Given the description of an element on the screen output the (x, y) to click on. 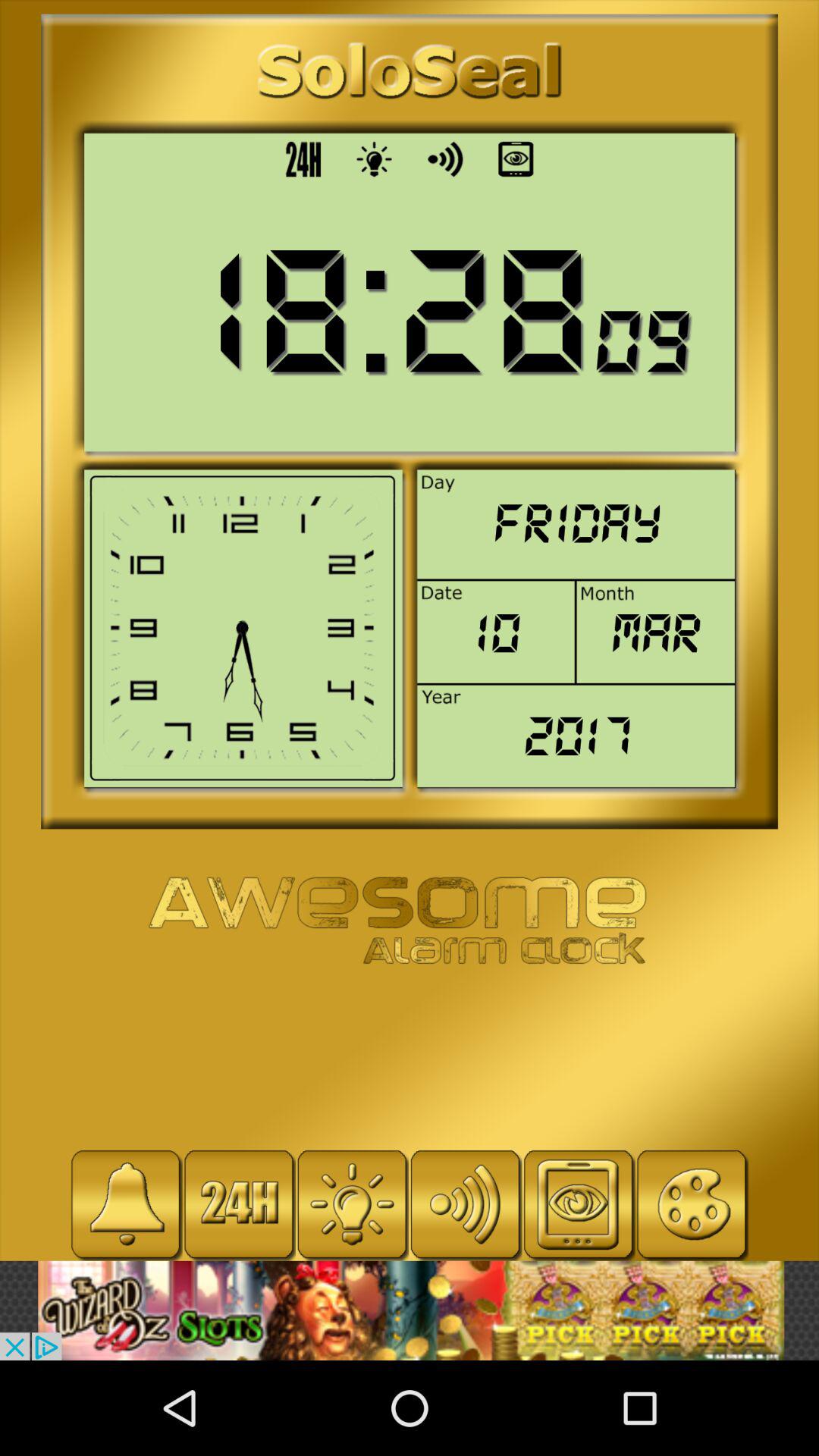
visit wifi (465, 1203)
